Given the description of an element on the screen output the (x, y) to click on. 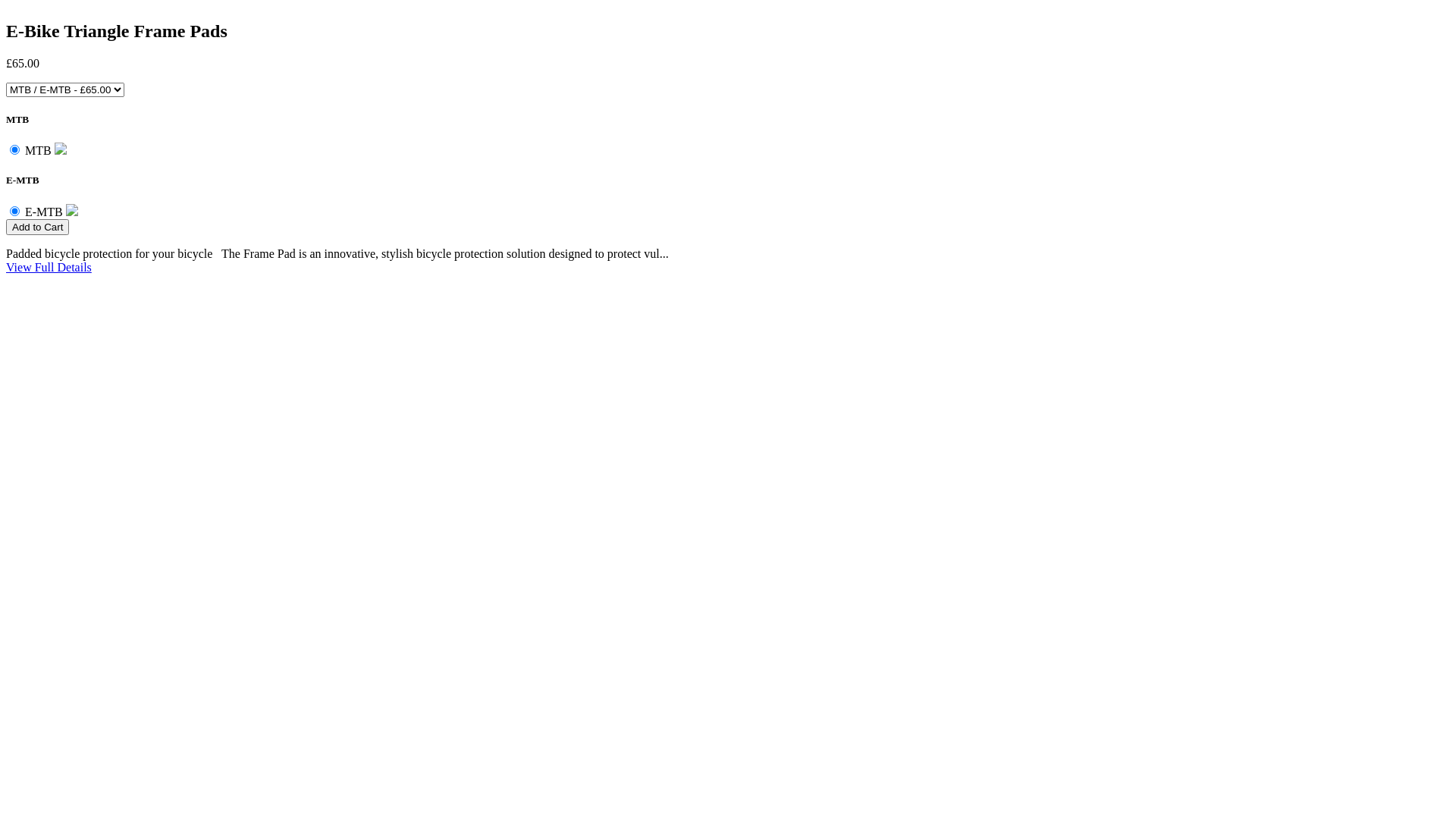
View Full Details Element type: text (48, 266)
Add to Cart Element type: text (37, 226)
